Given the description of an element on the screen output the (x, y) to click on. 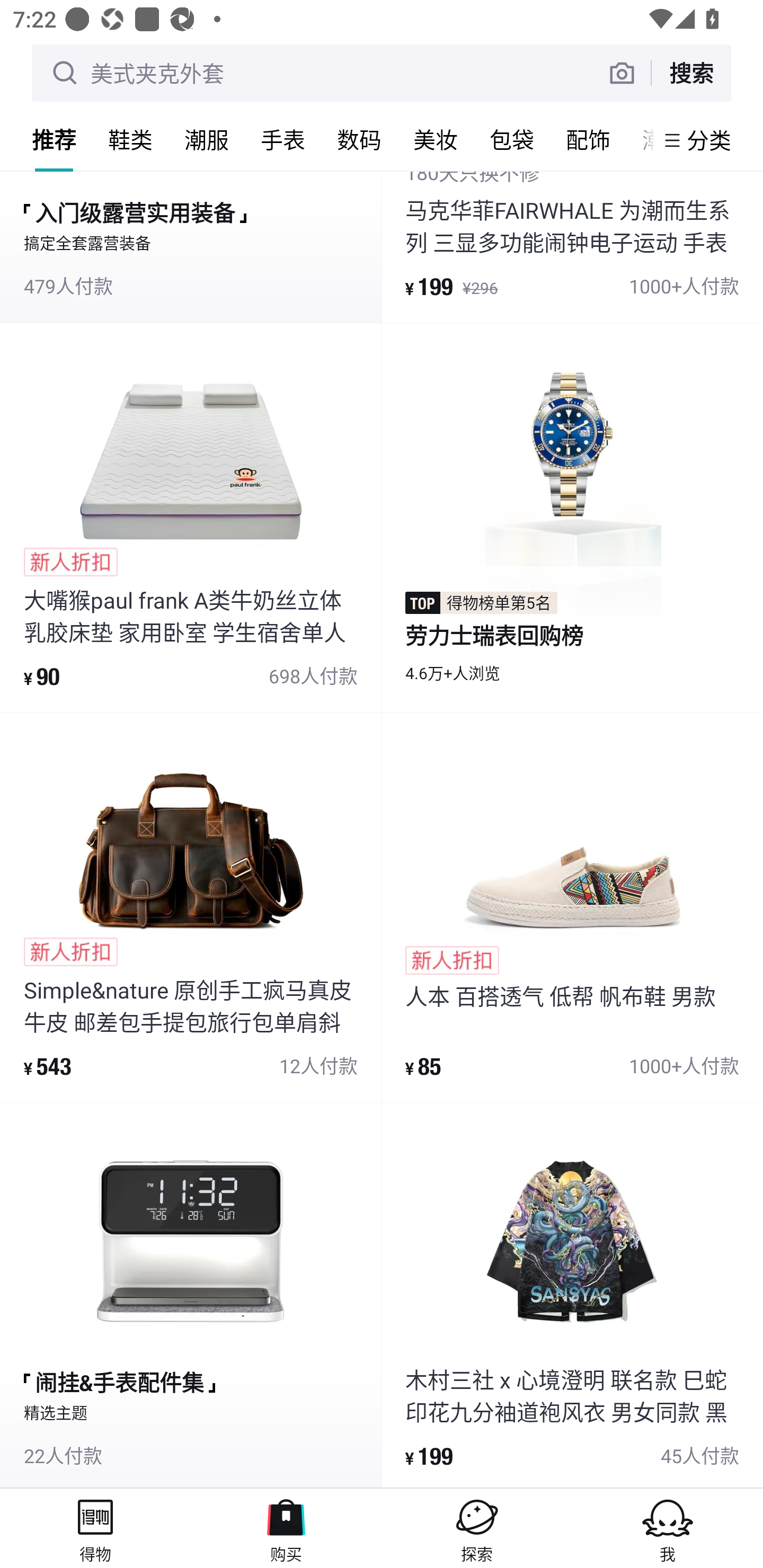
搜索 (690, 72)
推荐 (54, 139)
鞋类 (130, 139)
潮服 (206, 139)
手表 (282, 139)
数码 (359, 139)
美妆 (435, 139)
包袋 (511, 139)
配饰 (588, 139)
分类 (708, 139)
入门级露营实用装备 搞定全套露营装备 479人付款 (190, 246)
得物榜单第5名 劳力士瑞表回购榜 4.6万+人浏览 (572, 517)
product_item 人本 百搭透气 低帮 帆布鞋 男款 ¥ 85 1000+人付款 (572, 907)
闹挂&手表配件集 精选主题 22人付款 (190, 1295)
得物 (95, 1528)
购买 (285, 1528)
探索 (476, 1528)
我 (667, 1528)
